Given the description of an element on the screen output the (x, y) to click on. 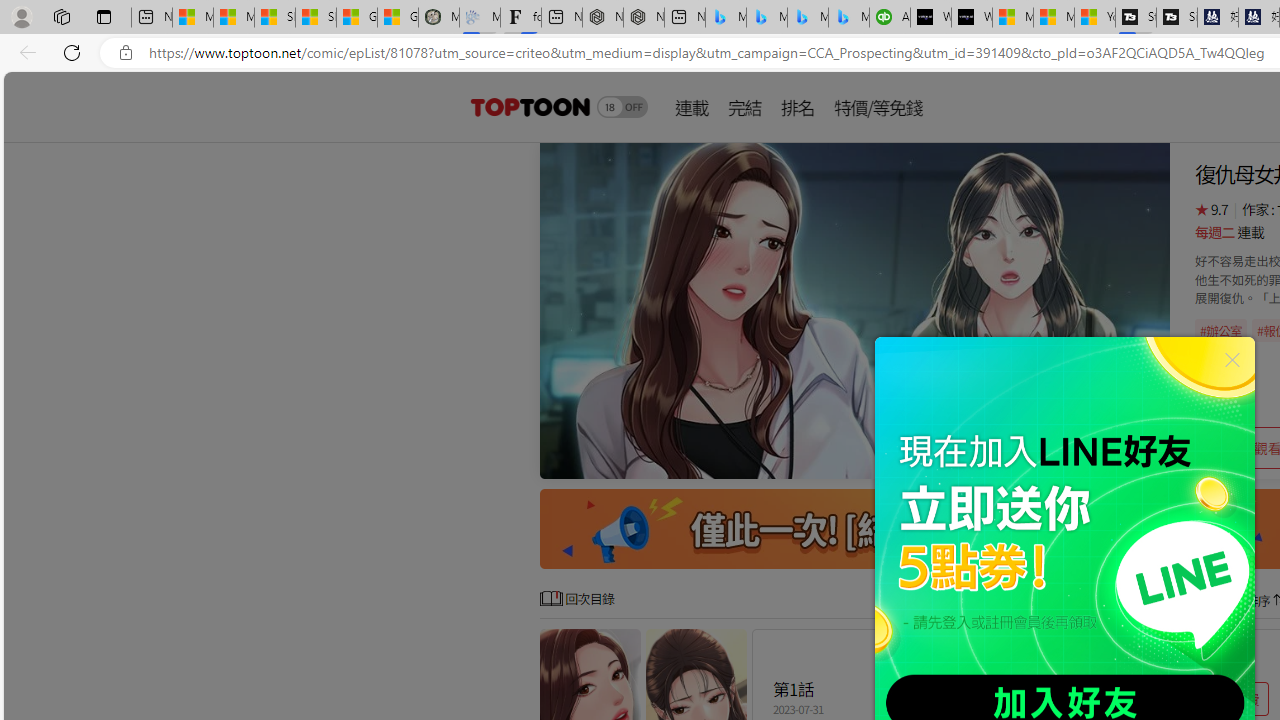
To get missing image descriptions, open the context menu. (854, 310)
header (527, 106)
